Given the description of an element on the screen output the (x, y) to click on. 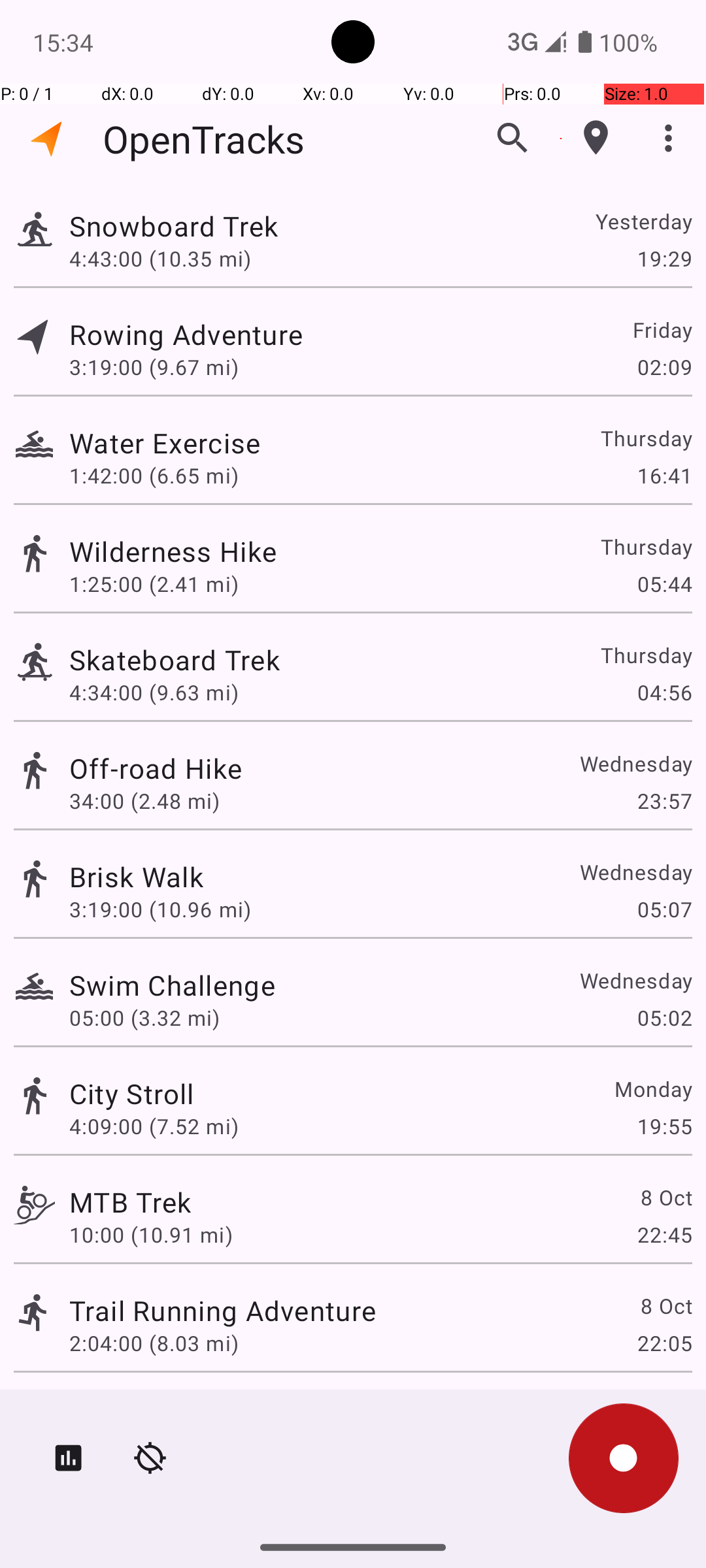
Snowboard Trek Element type: android.widget.TextView (173, 225)
4:43:00 (10.35 mi) Element type: android.widget.TextView (159, 258)
19:29 Element type: android.widget.TextView (664, 258)
Rowing Adventure Element type: android.widget.TextView (185, 333)
3:19:00 (9.67 mi) Element type: android.widget.TextView (153, 366)
02:09 Element type: android.widget.TextView (664, 366)
Water Exercise Element type: android.widget.TextView (164, 442)
1:42:00 (6.65 mi) Element type: android.widget.TextView (153, 475)
16:41 Element type: android.widget.TextView (664, 475)
Wilderness Hike Element type: android.widget.TextView (172, 550)
1:25:00 (2.41 mi) Element type: android.widget.TextView (153, 583)
05:44 Element type: android.widget.TextView (664, 583)
Skateboard Trek Element type: android.widget.TextView (174, 659)
4:34:00 (9.63 mi) Element type: android.widget.TextView (153, 692)
04:56 Element type: android.widget.TextView (664, 692)
Off-road Hike Element type: android.widget.TextView (155, 767)
34:00 (2.48 mi) Element type: android.widget.TextView (144, 800)
23:57 Element type: android.widget.TextView (664, 800)
Brisk Walk Element type: android.widget.TextView (135, 876)
3:19:00 (10.96 mi) Element type: android.widget.TextView (159, 909)
05:07 Element type: android.widget.TextView (664, 909)
Swim Challenge Element type: android.widget.TextView (171, 984)
05:00 (3.32 mi) Element type: android.widget.TextView (144, 1017)
05:02 Element type: android.widget.TextView (664, 1017)
City Stroll Element type: android.widget.TextView (131, 1092)
4:09:00 (7.52 mi) Element type: android.widget.TextView (153, 1125)
19:55 Element type: android.widget.TextView (664, 1125)
MTB Trek Element type: android.widget.TextView (129, 1201)
8 Oct Element type: android.widget.TextView (665, 1197)
10:00 (10.91 mi) Element type: android.widget.TextView (150, 1234)
22:45 Element type: android.widget.TextView (664, 1234)
Trail Running Adventure Element type: android.widget.TextView (222, 1309)
2:04:00 (8.03 mi) Element type: android.widget.TextView (153, 1342)
22:05 Element type: android.widget.TextView (664, 1342)
Off-road Run Element type: android.widget.TextView (151, 1408)
